Given the description of an element on the screen output the (x, y) to click on. 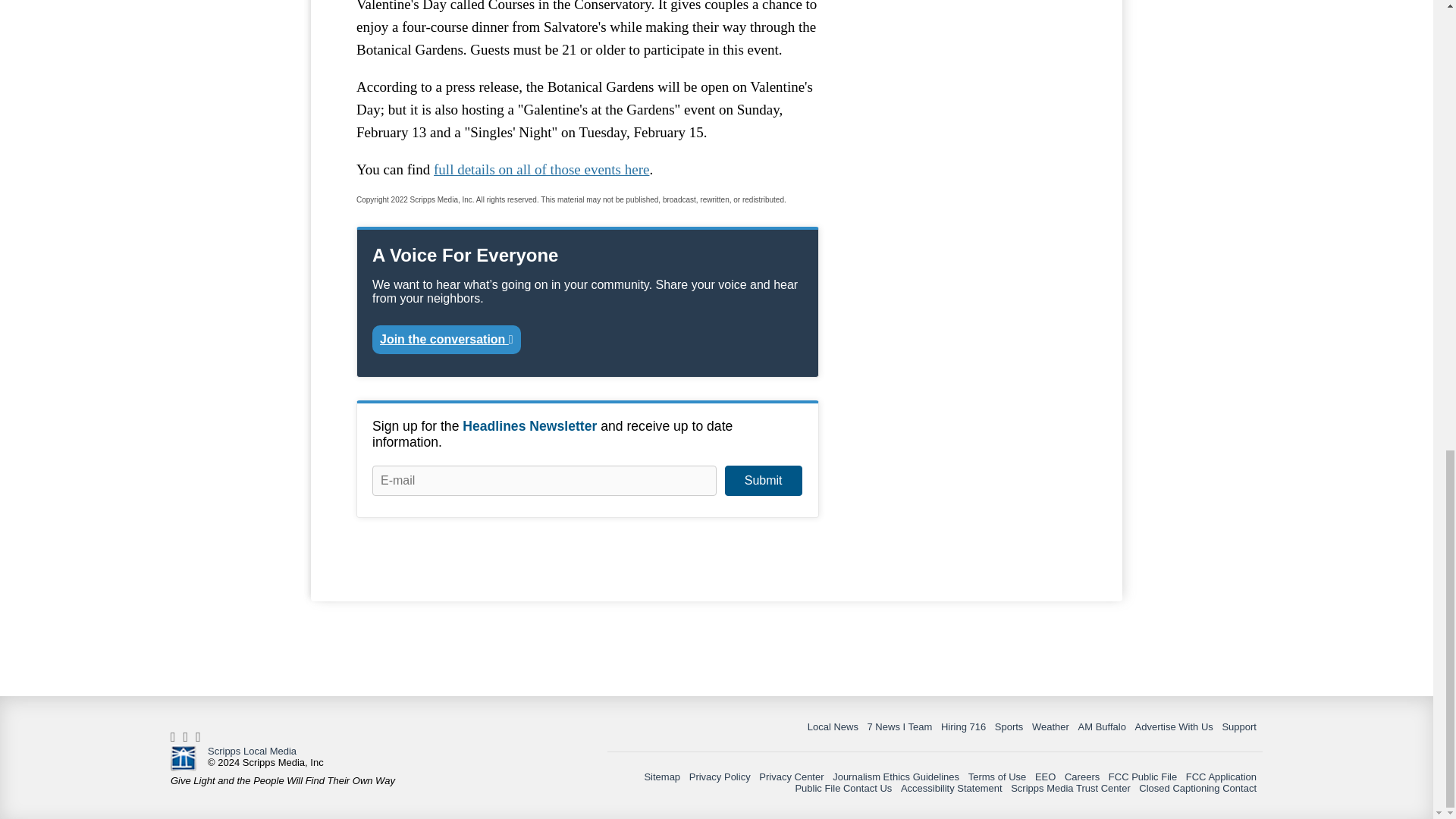
Submit (763, 481)
